Given the description of an element on the screen output the (x, y) to click on. 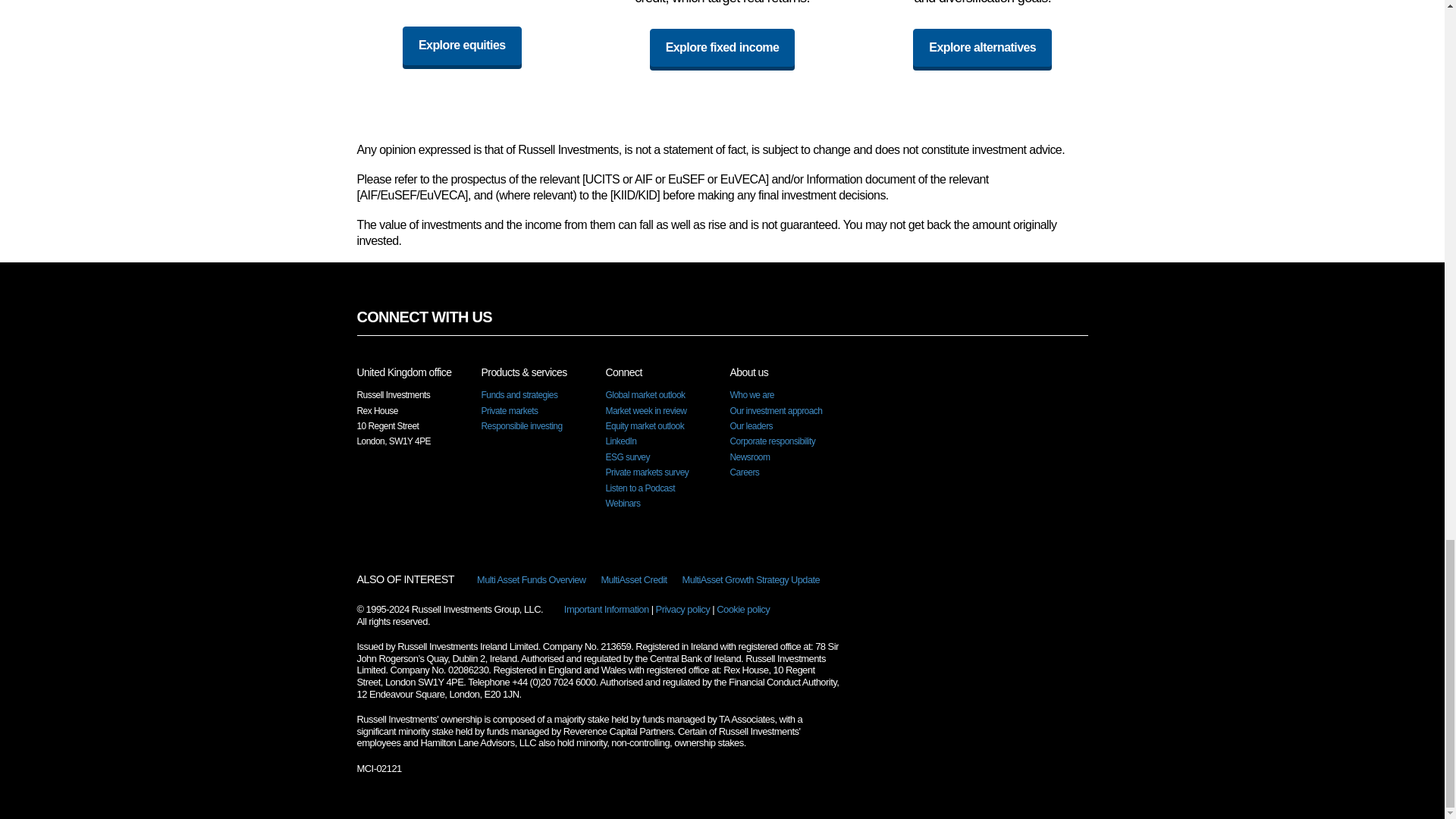
Private markets (508, 410)
Responsibile investing (521, 425)
Who we are (751, 394)
ESG survey (627, 457)
Global market outlook (644, 394)
Private markets survey (646, 471)
Our investment approach (775, 410)
Explore fixed income (721, 47)
Explore equities (462, 45)
Listen to a Podcast (639, 488)
